Given the description of an element on the screen output the (x, y) to click on. 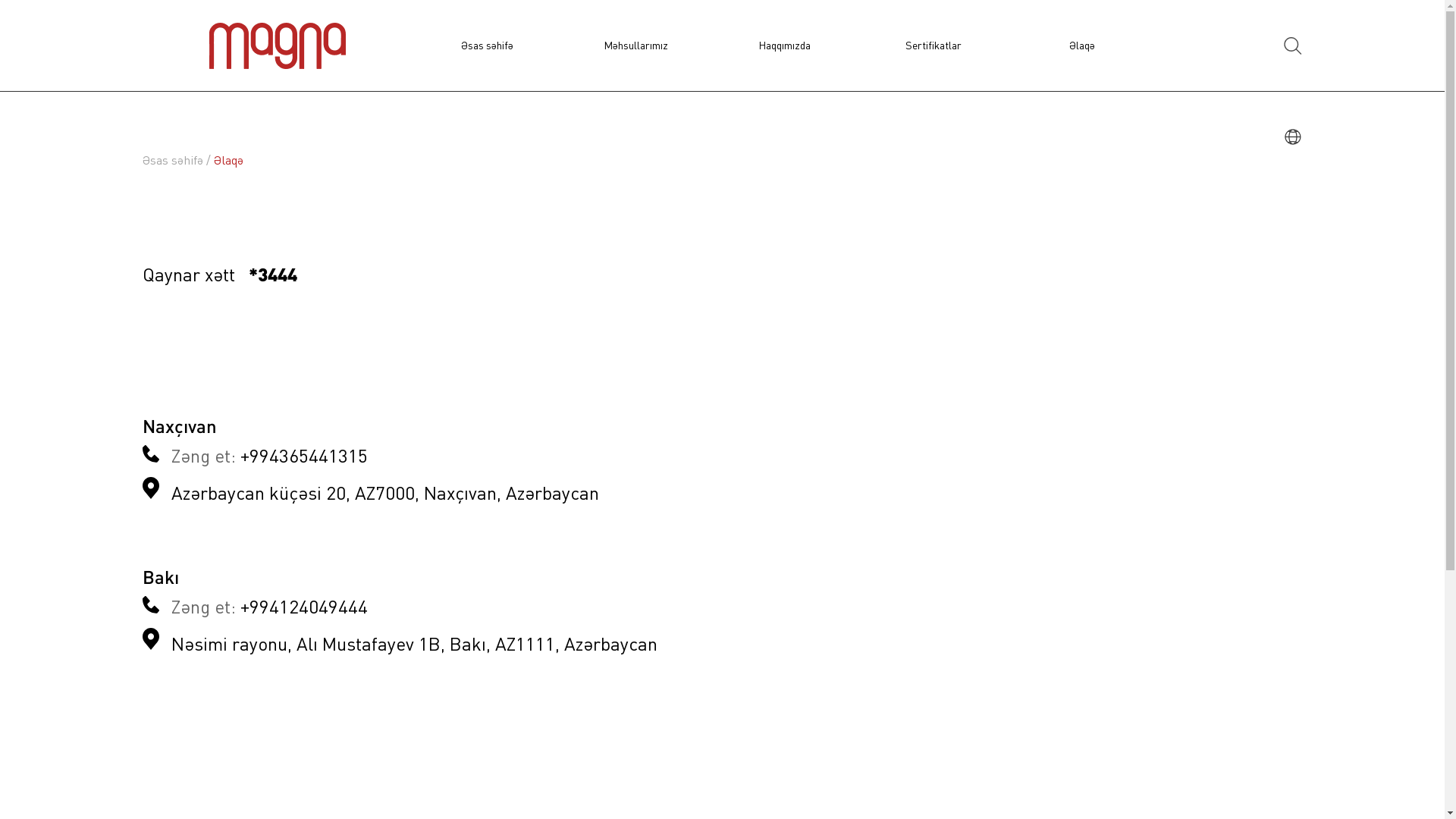
*3444 Element type: text (272, 276)
+994124049444 Element type: text (303, 606)
Sertifikatlar Element type: text (933, 45)
+994365441315 Element type: text (303, 455)
